Given the description of an element on the screen output the (x, y) to click on. 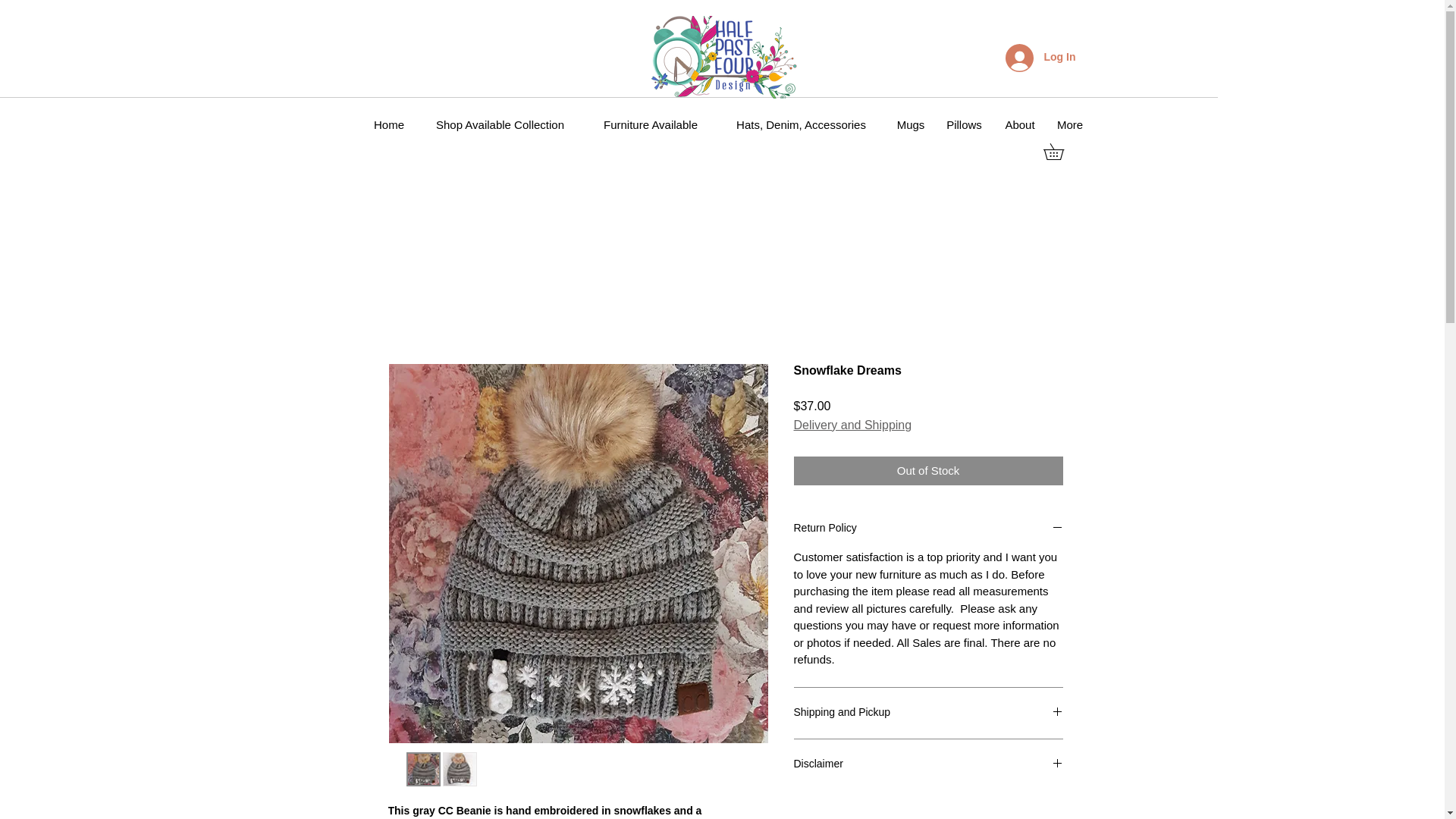
Disclaimer (927, 764)
Delivery and Shipping (852, 425)
Mugs (909, 125)
Return Policy (927, 528)
Hats, Denim, Accessories (800, 125)
Furniture Available (650, 125)
Home (388, 125)
Shipping and Pickup (927, 712)
Log In (1040, 57)
Pillows (964, 125)
